Given the description of an element on the screen output the (x, y) to click on. 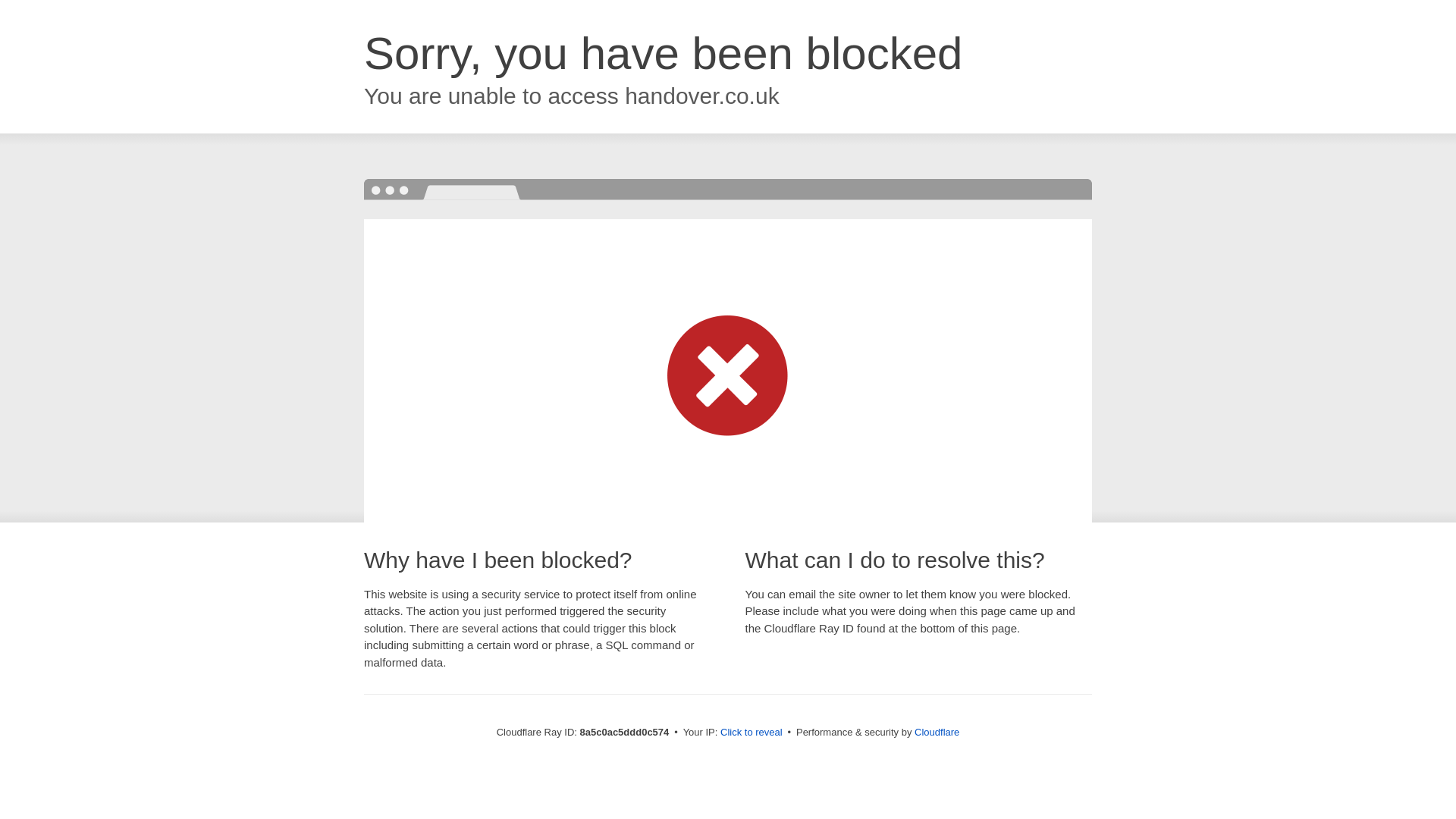
Cloudflare (936, 731)
Click to reveal (751, 732)
